Given the description of an element on the screen output the (x, y) to click on. 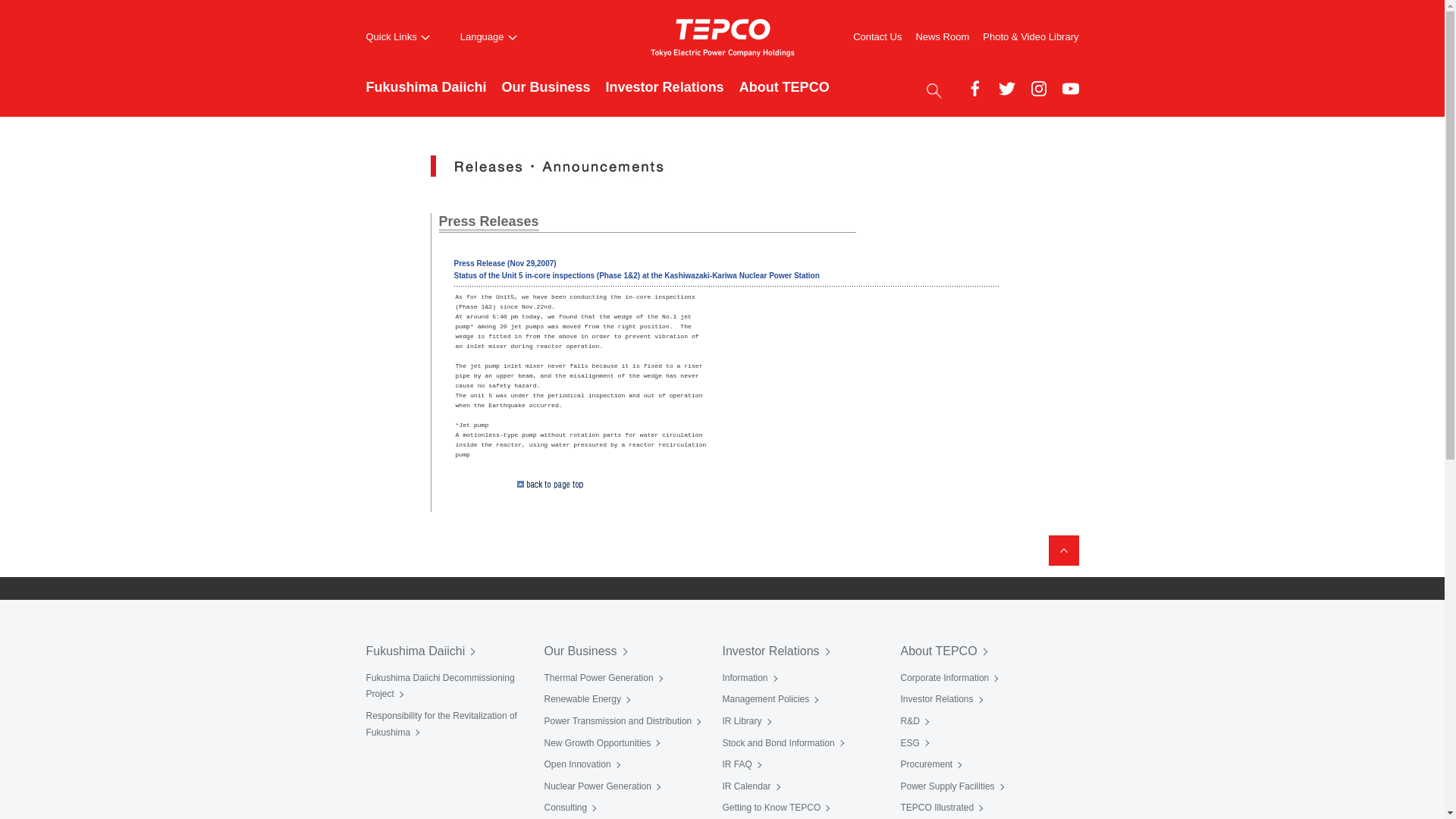
News Room (942, 36)
search (933, 89)
Quick Links (397, 37)
Contact Us (877, 36)
Language (488, 37)
Fukushima Daiichi (425, 95)
